Given the description of an element on the screen output the (x, y) to click on. 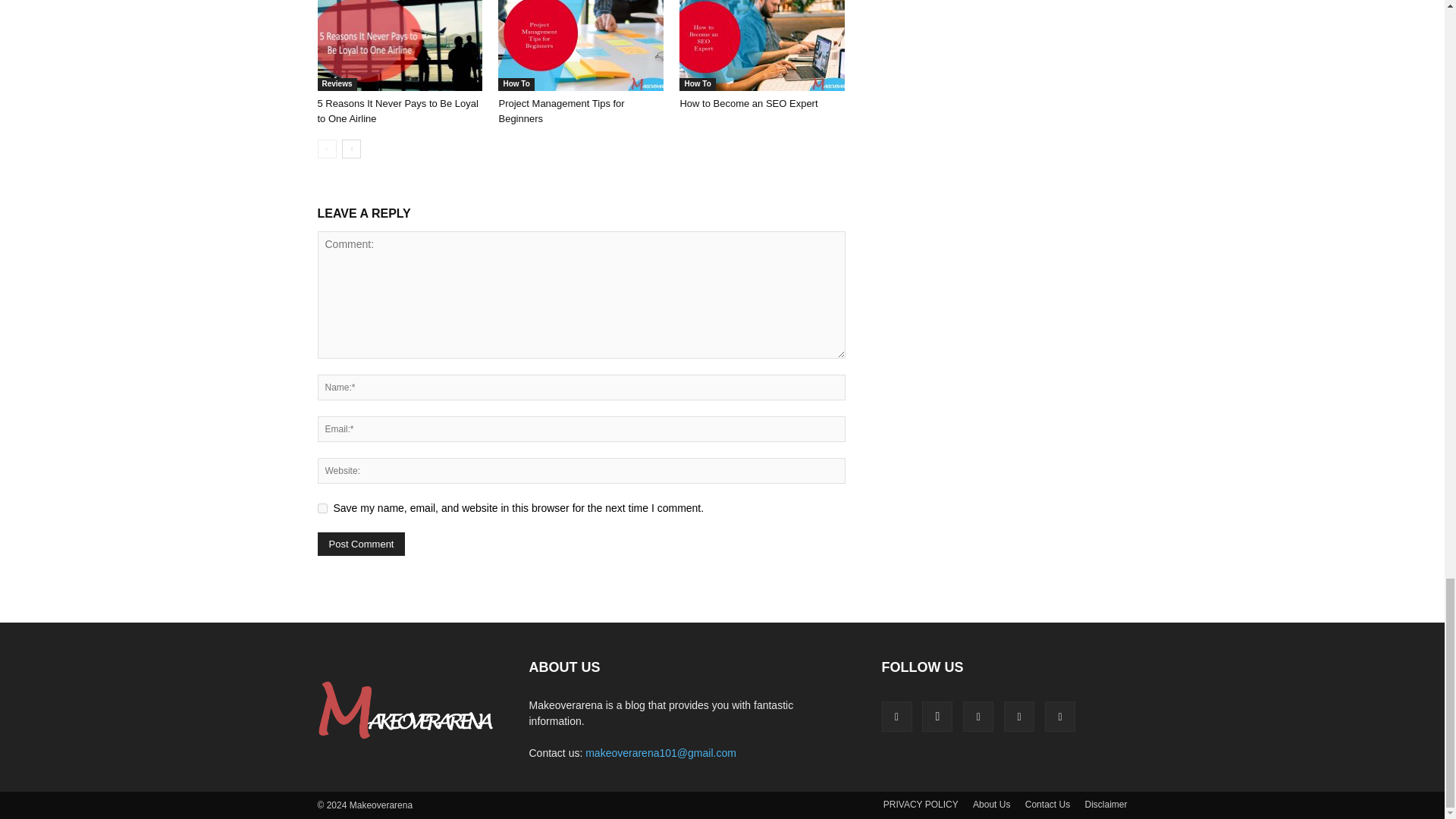
5 Reasons It Never Pays to Be Loyal to One Airline (399, 45)
Post Comment (360, 544)
yes (321, 508)
